Given the description of an element on the screen output the (x, y) to click on. 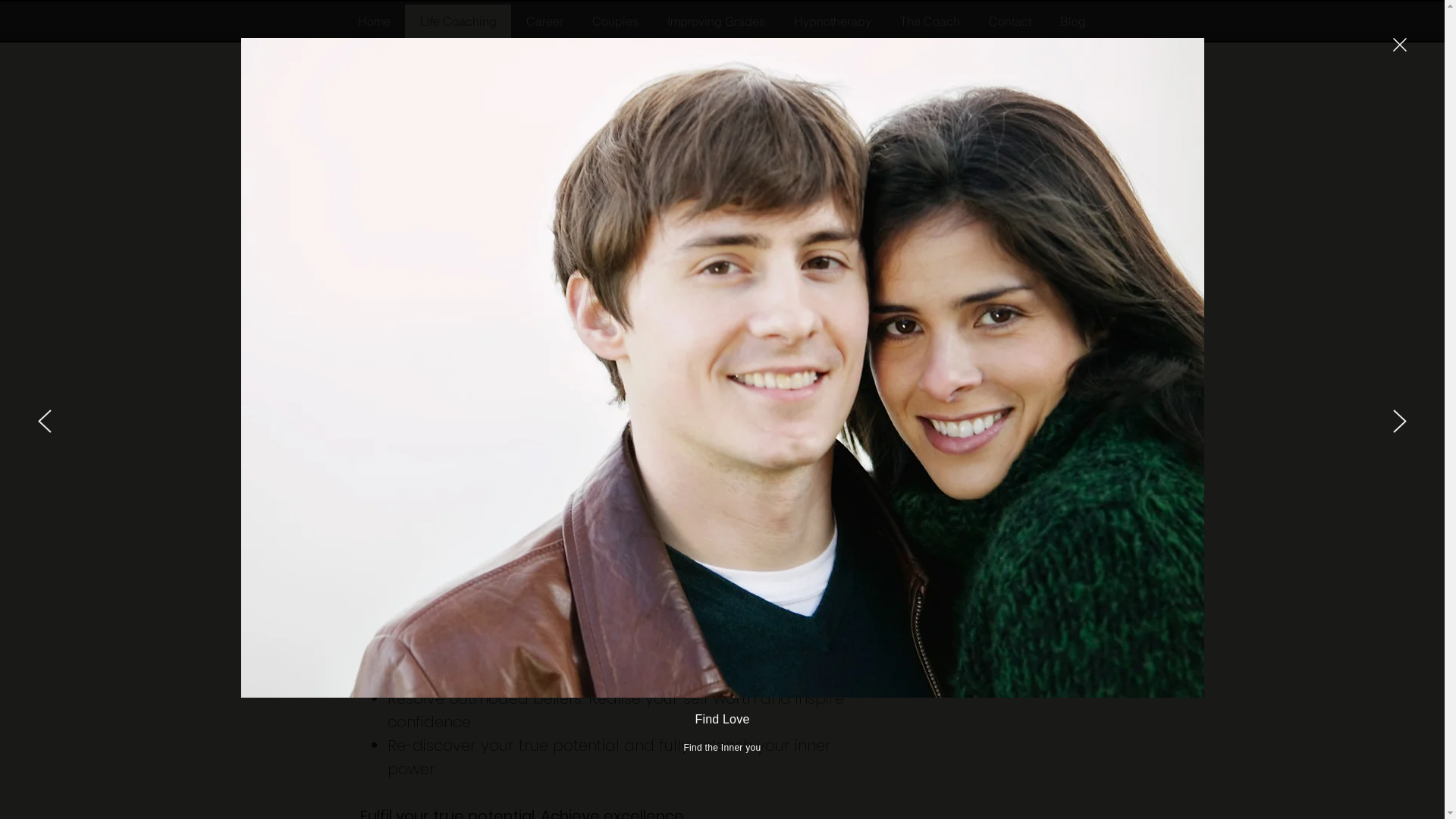
Couples Element type: text (614, 20)
Life Coaching Element type: text (457, 20)
Career Element type: text (544, 20)
Call Now Element type: text (1027, 485)
Home Element type: text (373, 20)
Blog Element type: text (1071, 20)
Hypnotherapy Element type: text (832, 20)
The Coach Element type: text (929, 20)
Improving Grades Element type: text (715, 20)
Contact Element type: text (1008, 20)
